Given the description of an element on the screen output the (x, y) to click on. 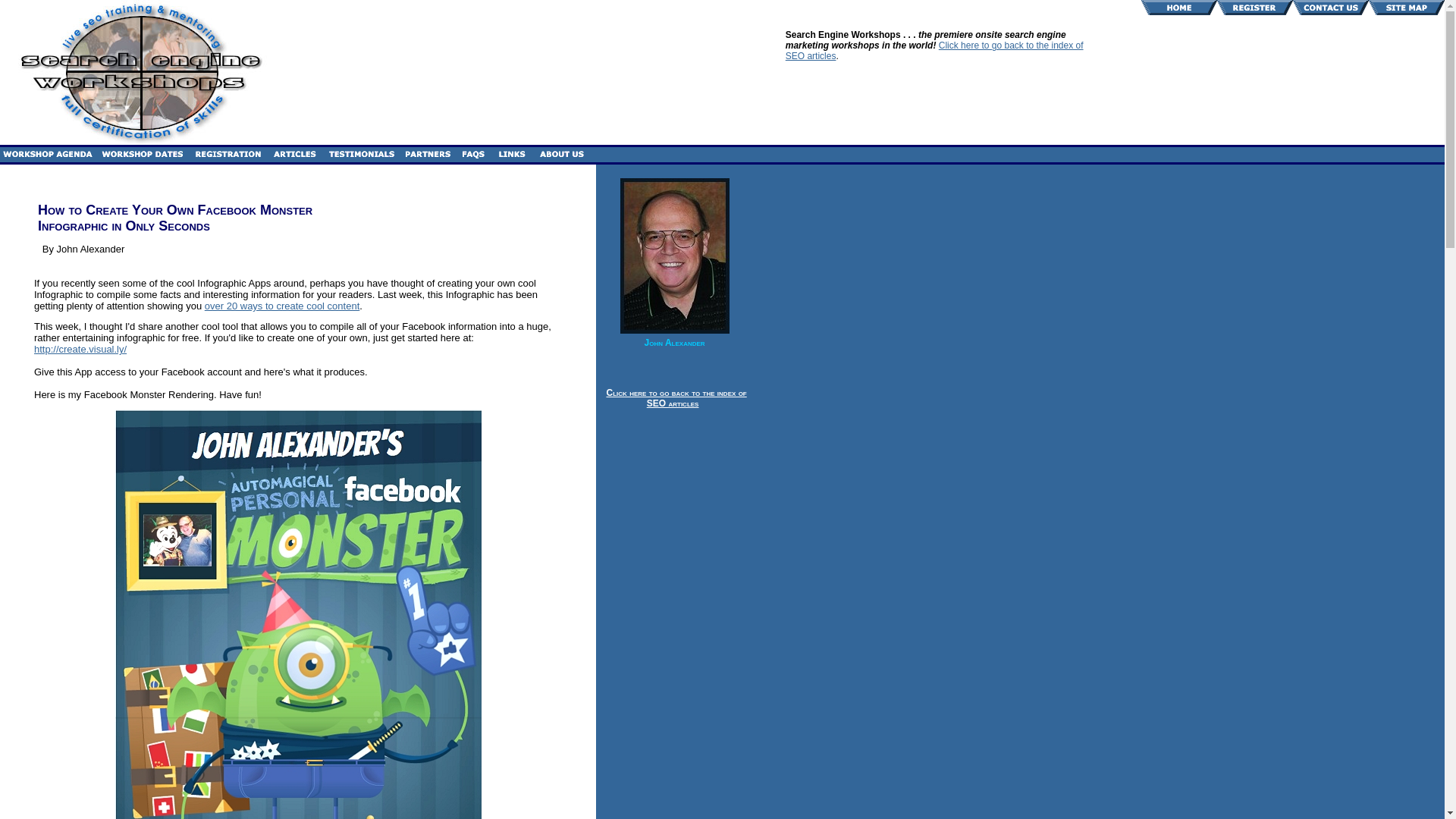
Click here to go back to the index of SEO articles (934, 50)
over 20 ways to create cool content (282, 306)
Click here to go back to the index of SEO articles (675, 397)
